Given the description of an element on the screen output the (x, y) to click on. 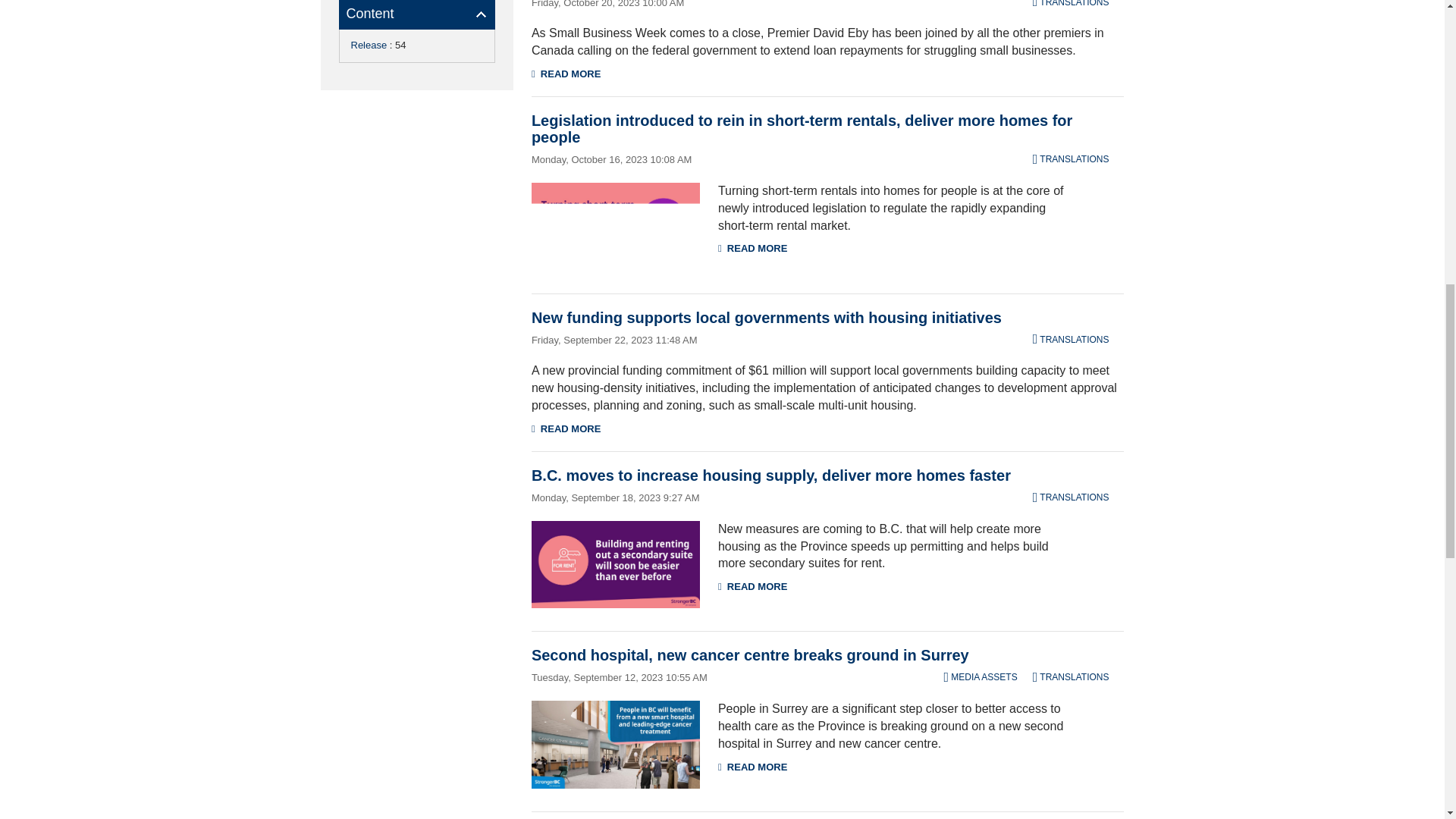
Creating more homes for people (615, 564)
Second hospital, new cancer centre breaks ground in Surrey (615, 744)
